Given the description of an element on the screen output the (x, y) to click on. 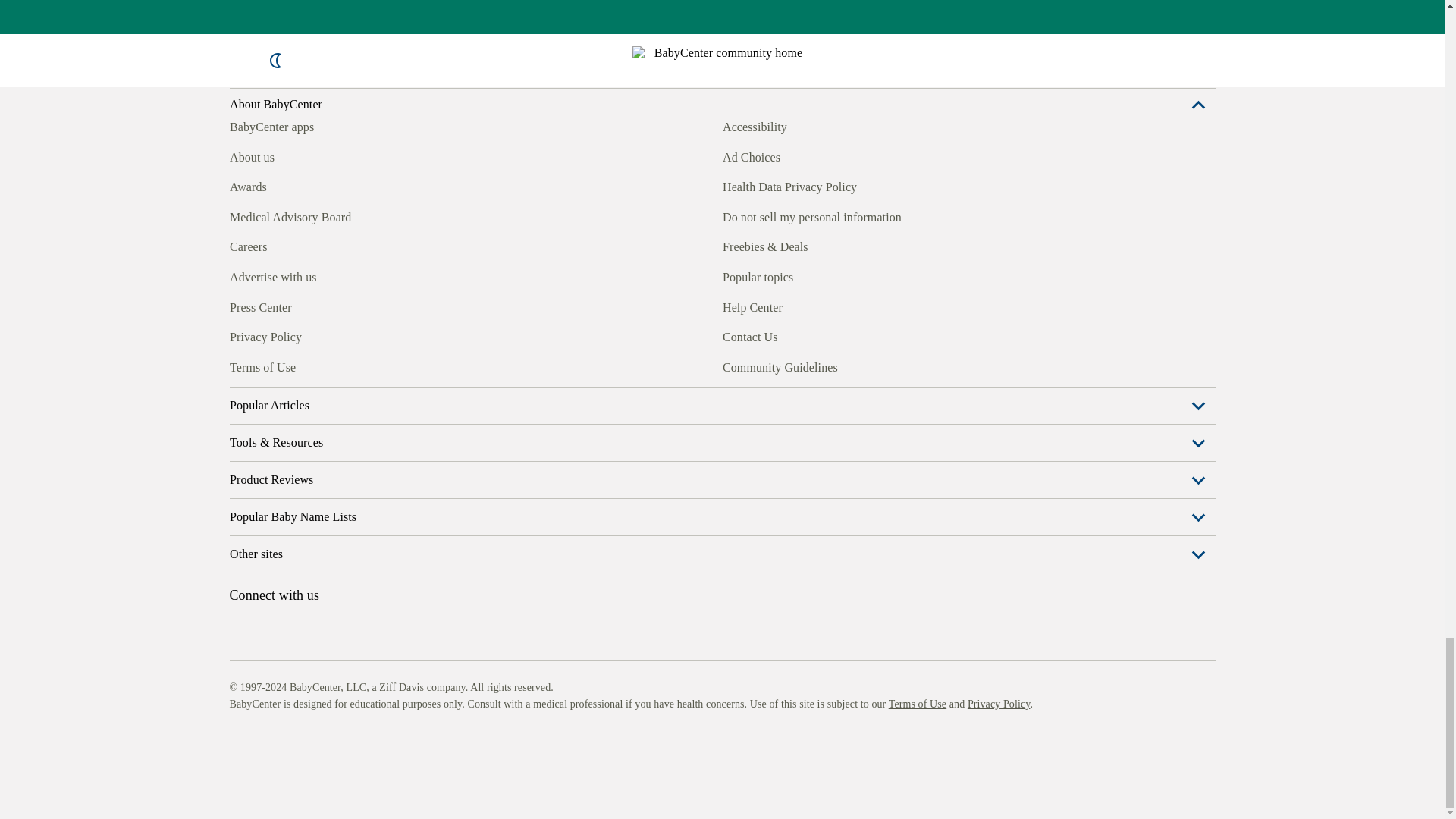
BabyCenter Instagram feed (274, 450)
BabyCenter Pinterest board (309, 450)
BabyCenter Facebook page (239, 450)
BabyCenter YouTube channel (344, 450)
BabyCenter Twitter feed (379, 450)
